Given the description of an element on the screen output the (x, y) to click on. 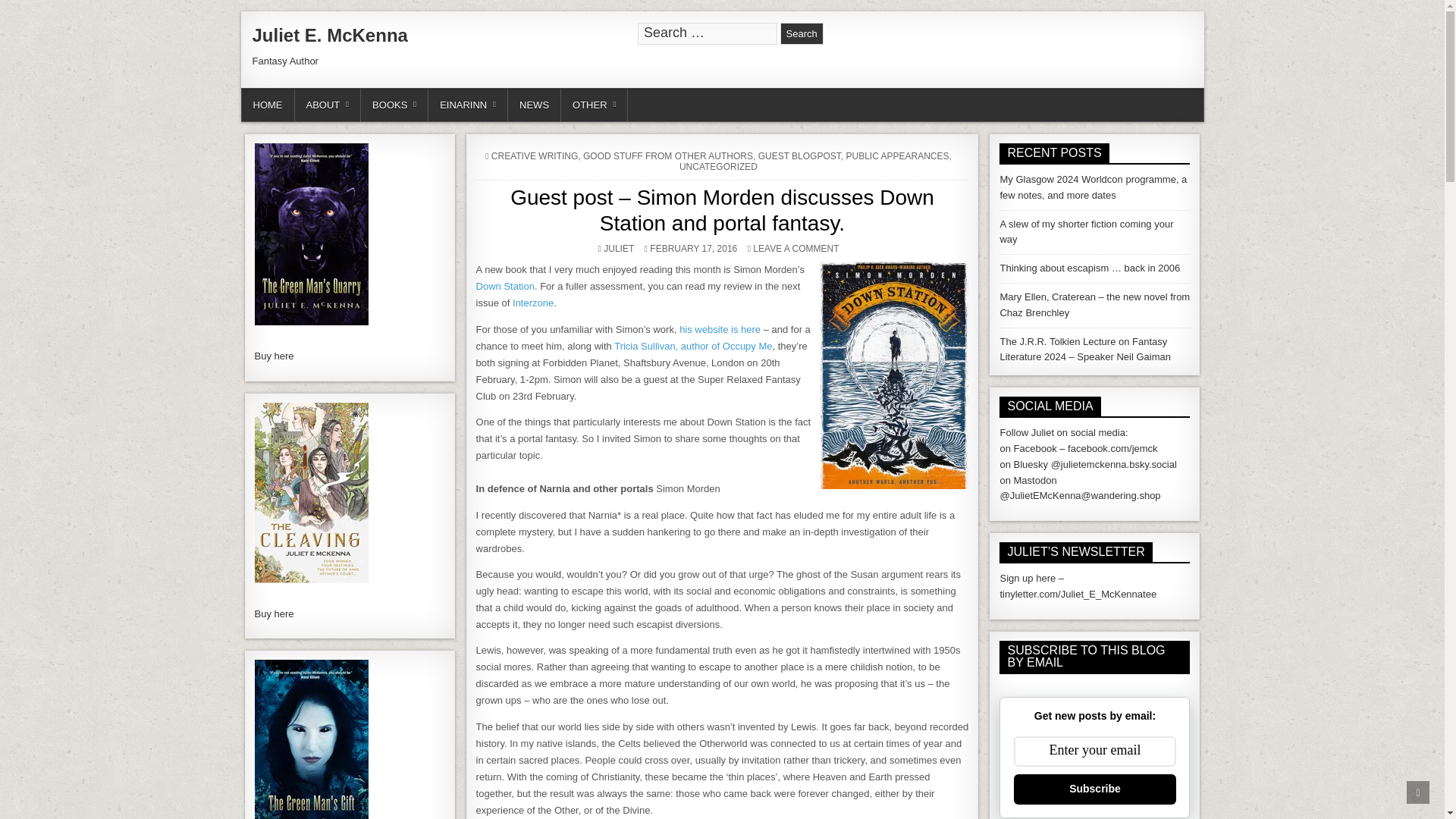
ABOUT (327, 104)
Search (802, 33)
Juliet E. McKenna (329, 35)
Scroll to Top (1417, 792)
Scroll to Top (1417, 792)
BOOKS (394, 104)
Search (802, 33)
Search (802, 33)
HOME (267, 104)
